Given the description of an element on the screen output the (x, y) to click on. 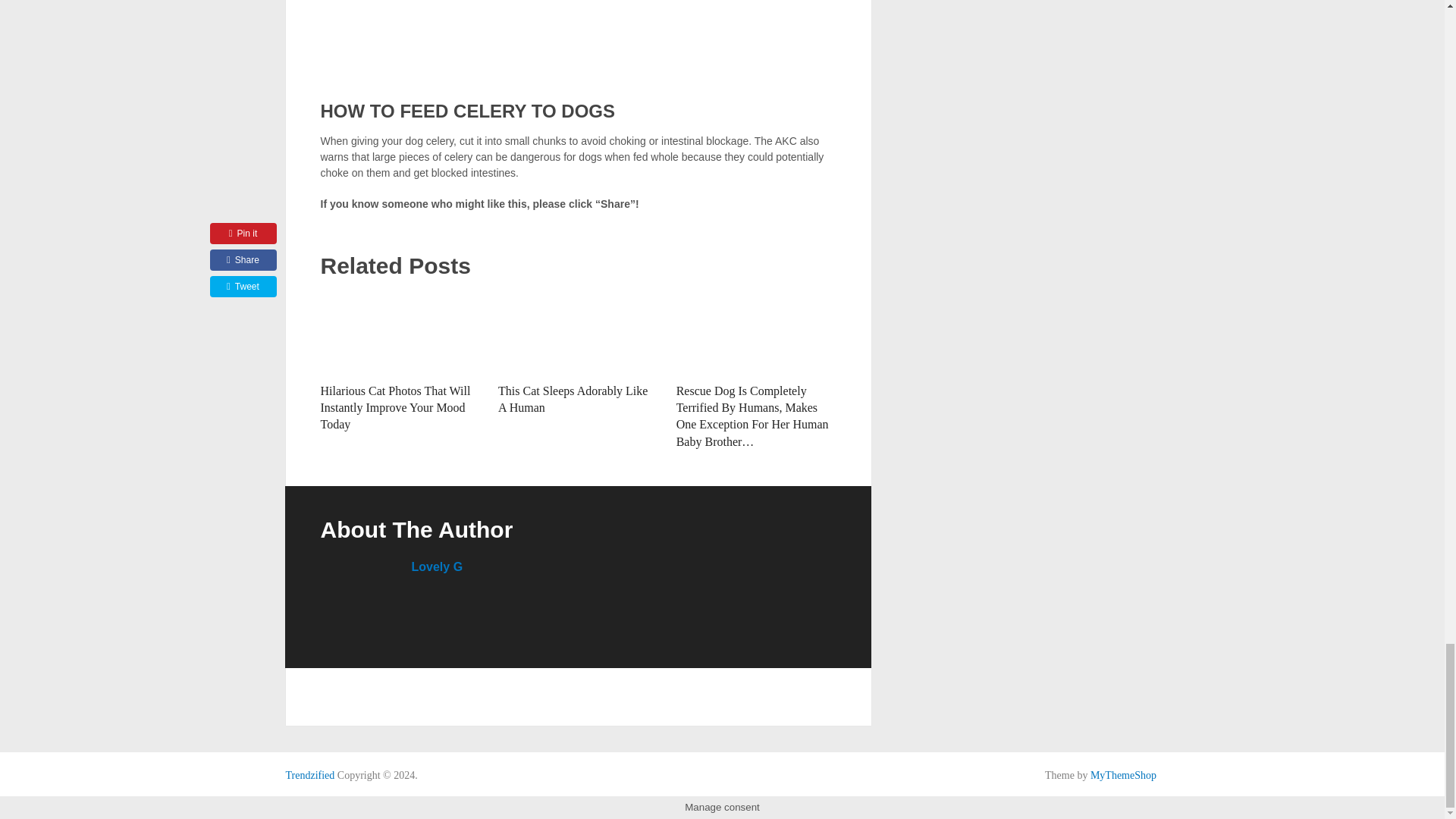
This Cat Sleeps Adorably Like A Human (572, 399)
This Cat Sleeps Adorably Like A Human (577, 333)
